Given the description of an element on the screen output the (x, y) to click on. 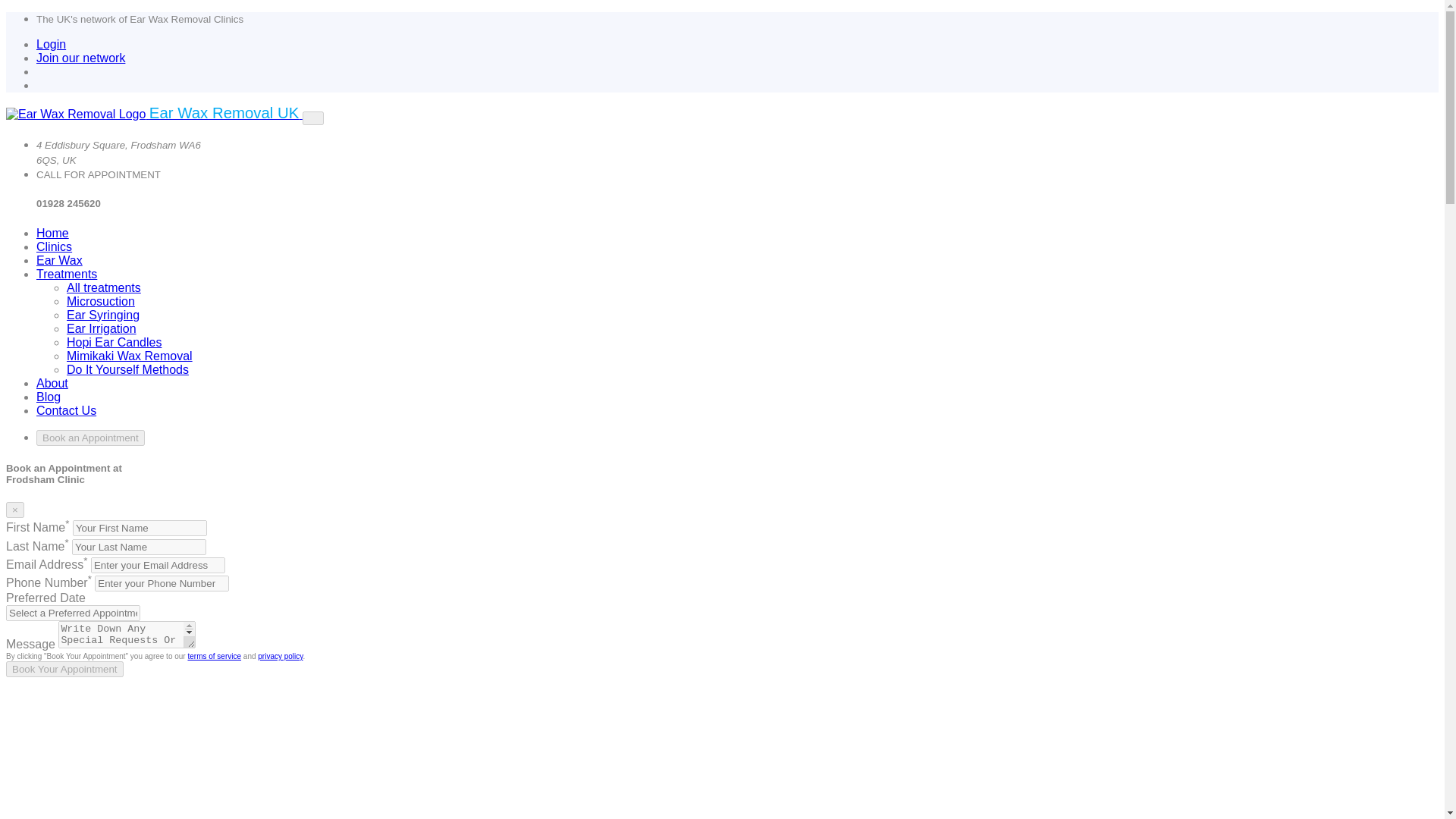
terms of service (214, 655)
Ear Irrigation (101, 328)
Contact Us (66, 410)
Blog (48, 396)
Blog (48, 396)
Microsuction (100, 300)
Clinics (53, 246)
Home (52, 232)
Ear Irrigation (101, 328)
Microsuction (100, 300)
Book an Appointment (90, 437)
Hopi Ear Candles (113, 341)
About Us (52, 382)
Book Your Appointment (64, 668)
Login (50, 43)
